Given the description of an element on the screen output the (x, y) to click on. 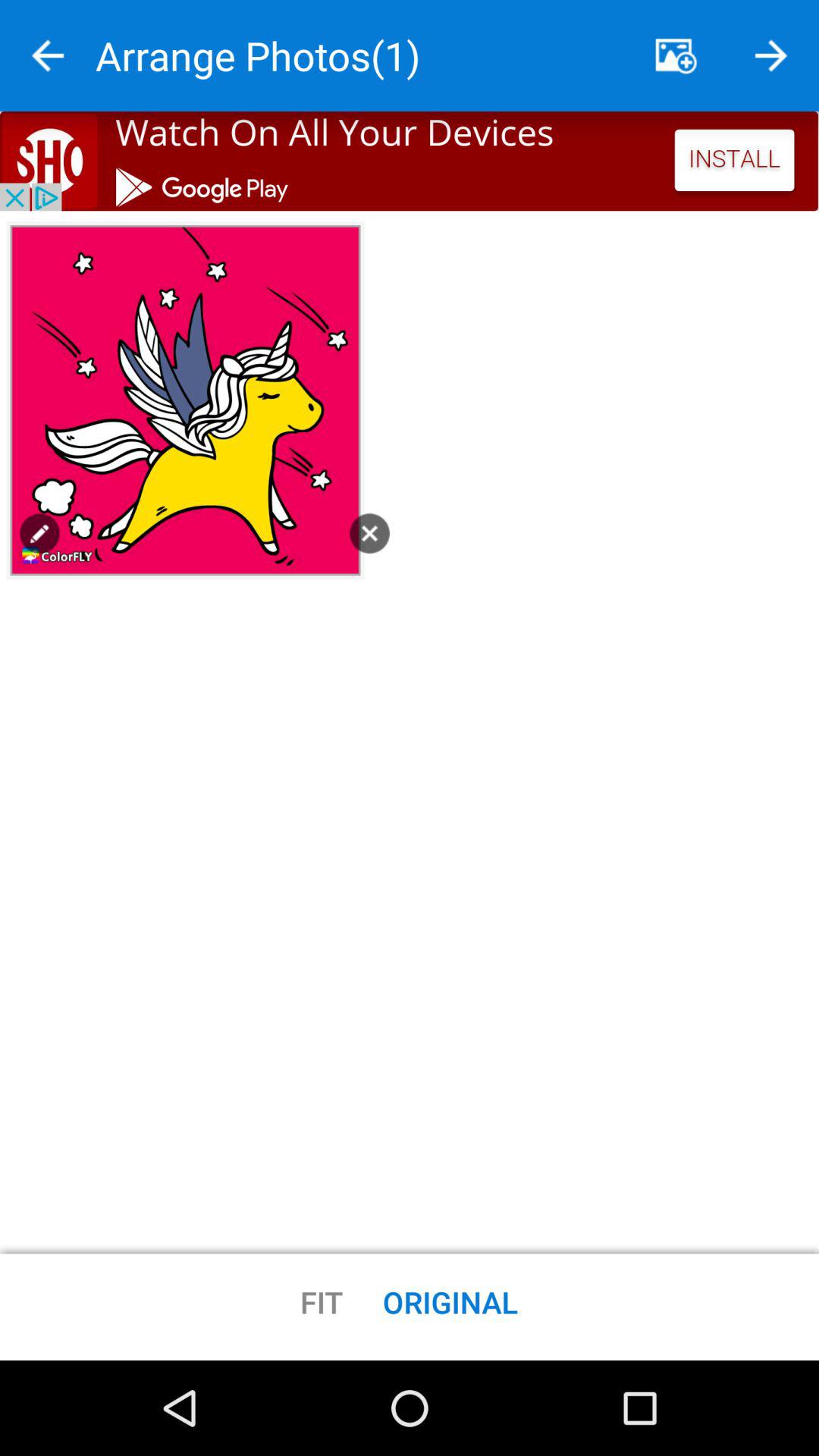
pencil (39, 533)
